Given the description of an element on the screen output the (x, y) to click on. 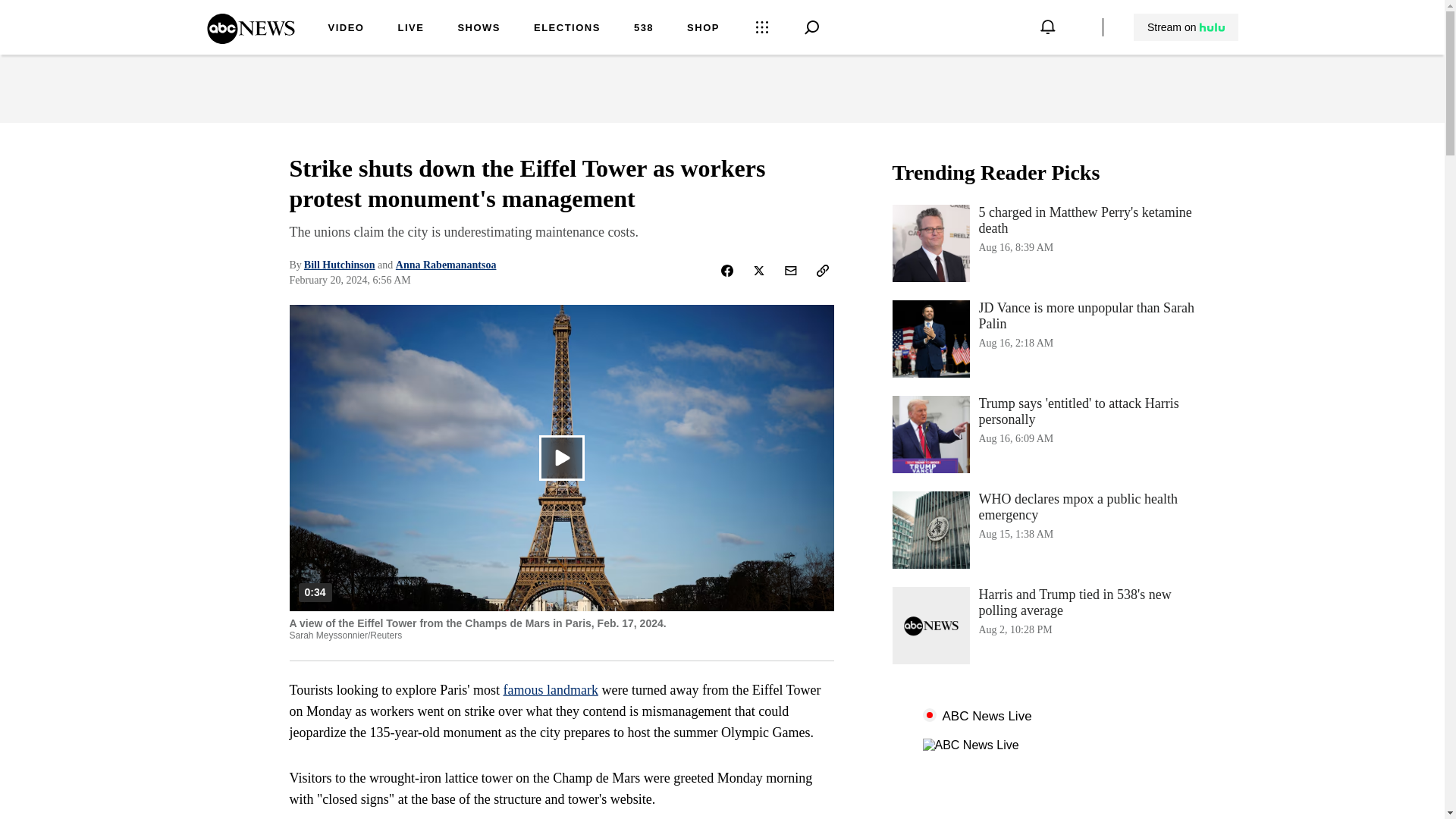
ABC News (250, 38)
LIVE (410, 28)
538 (643, 28)
Stream on (1186, 26)
SHOWS (478, 28)
Anna Rabemanantsoa (446, 265)
ELECTIONS (1043, 338)
VIDEO (566, 28)
Bill Hutchinson (345, 28)
